Given the description of an element on the screen output the (x, y) to click on. 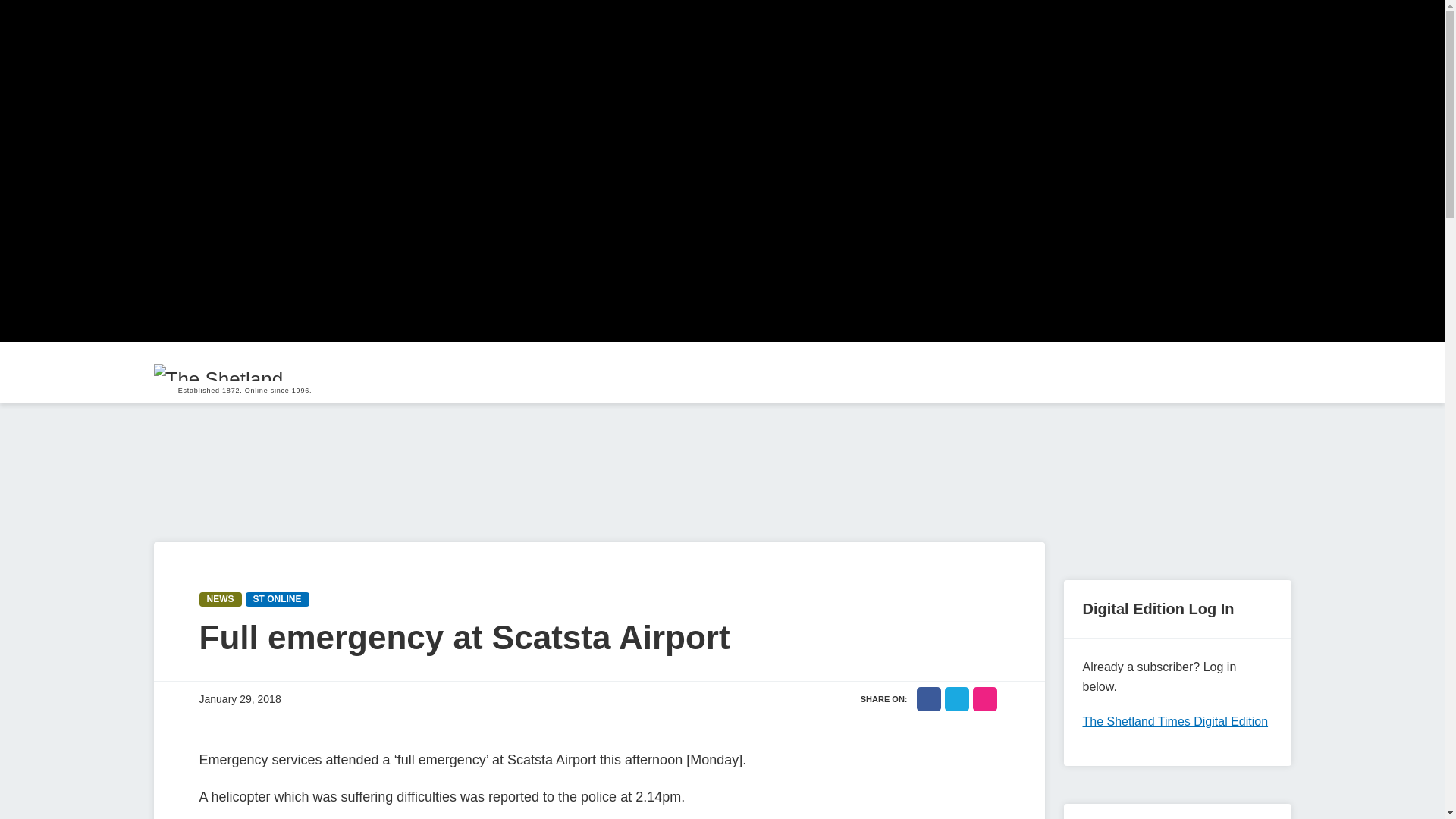
ST ONLINE (277, 599)
Established 1872. Online since 1996. (244, 372)
NEWS (219, 599)
